Given the description of an element on the screen output the (x, y) to click on. 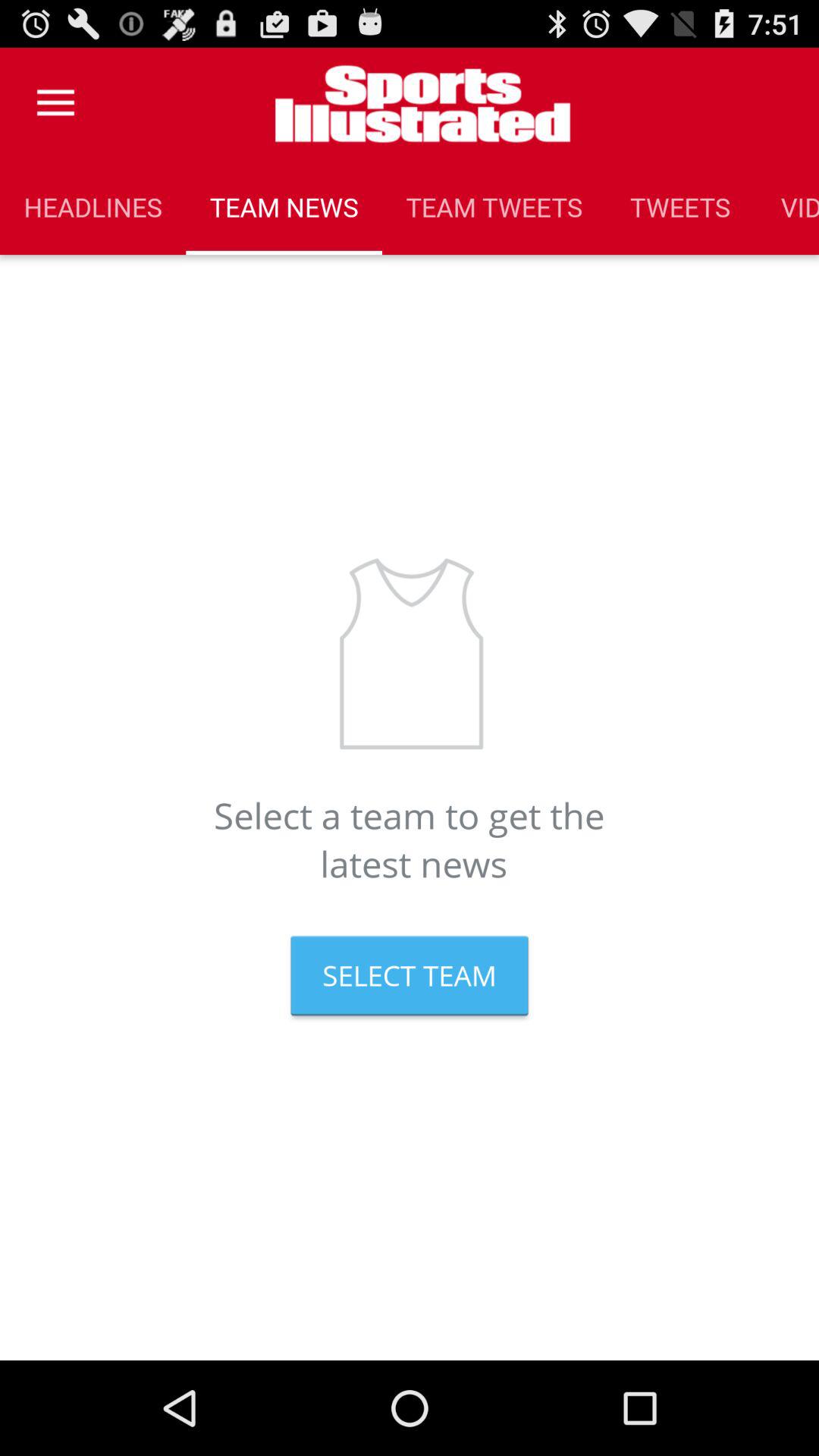
select the item above the headlines (55, 103)
